Given the description of an element on the screen output the (x, y) to click on. 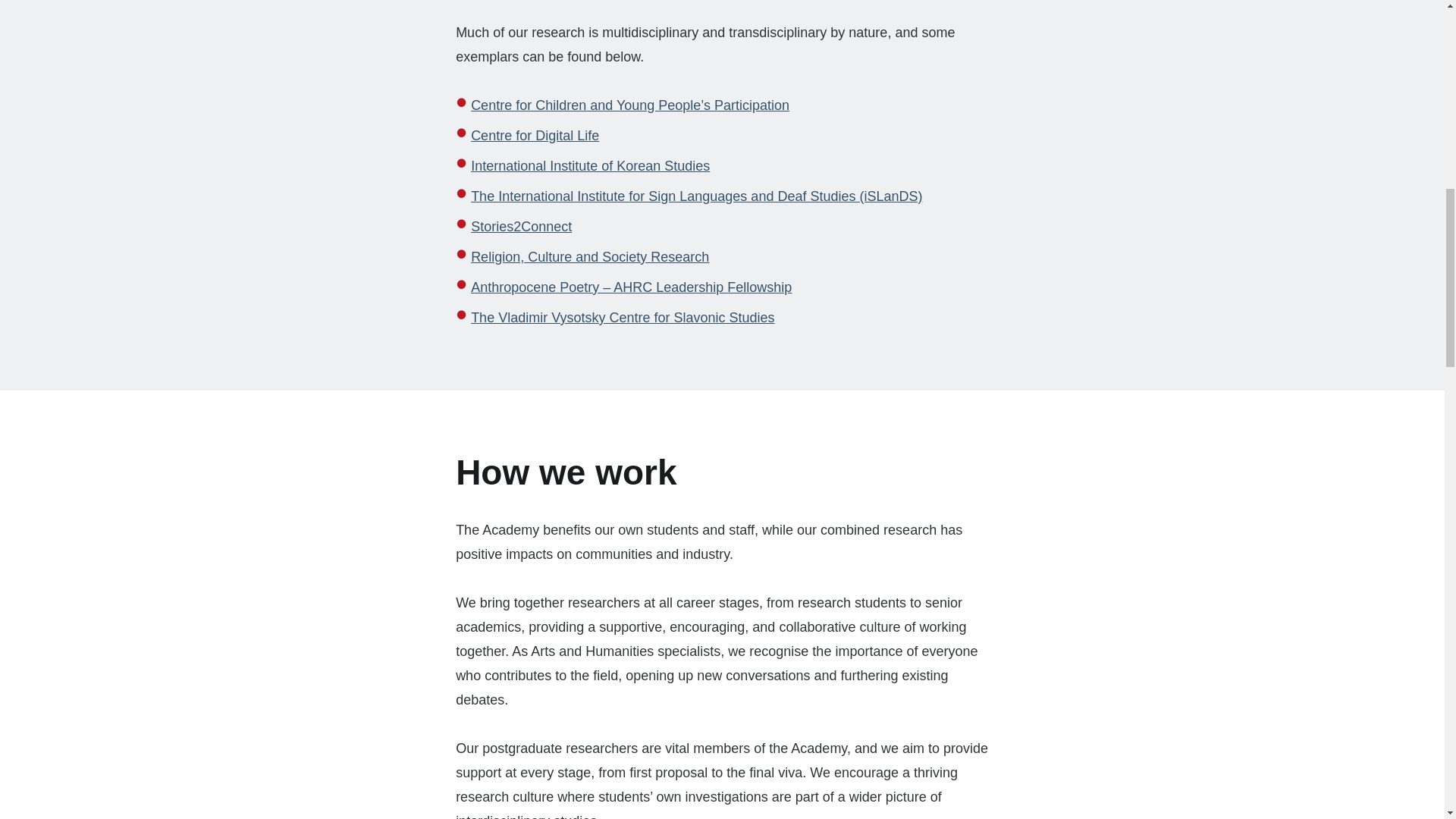
Stories2Connect (521, 226)
International Institute of Korean Studies (590, 165)
anthropocene-poetry-project (631, 287)
Research Centre for Digital Life (534, 135)
slavonic-studies (622, 317)
rcs-research (589, 256)
